Given the description of an element on the screen output the (x, y) to click on. 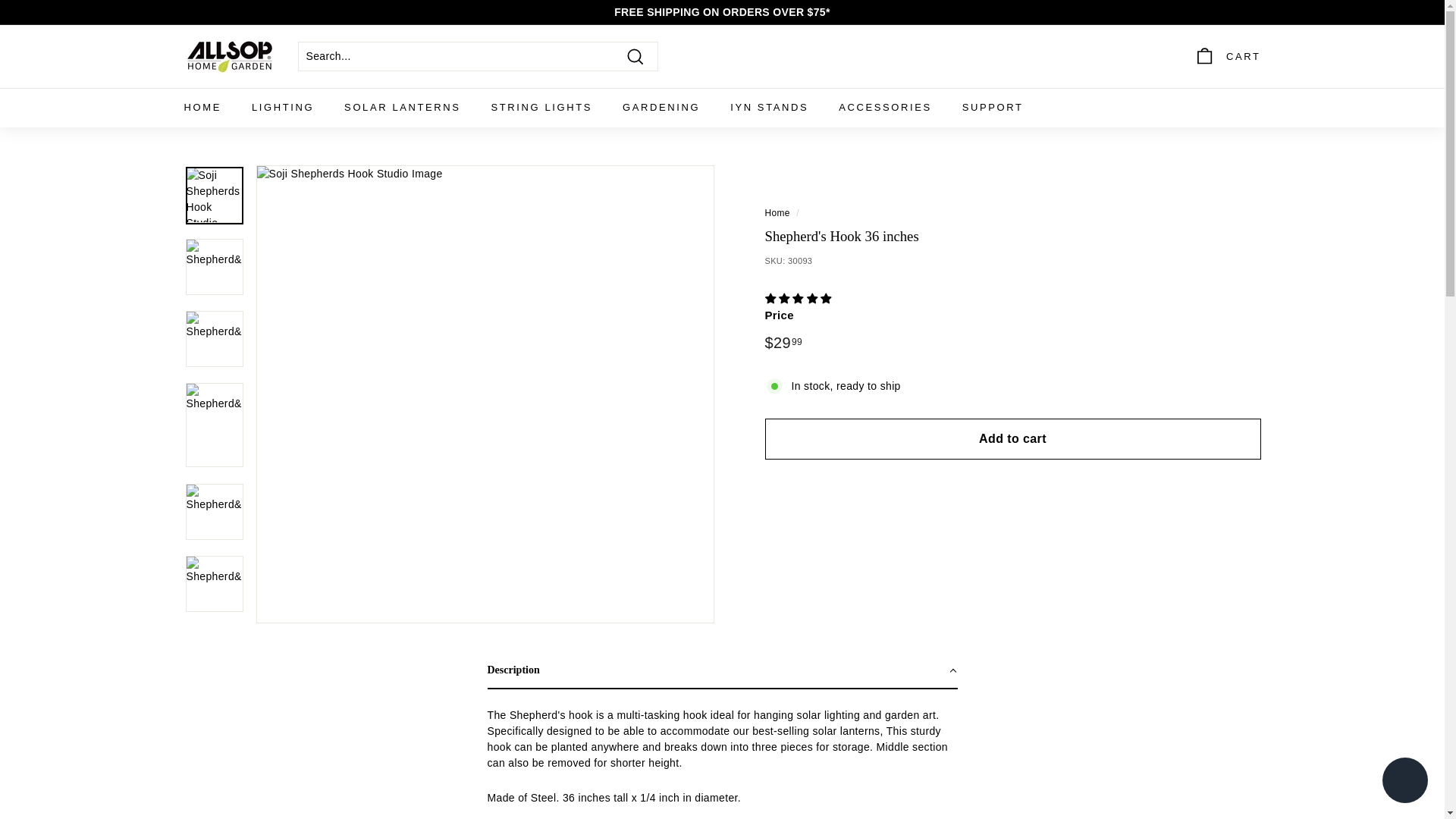
STRING LIGHTS (541, 107)
IYN STANDS (769, 107)
GARDENING (660, 107)
SUPPORT (993, 107)
HOME (201, 107)
ACCESSORIES (885, 107)
Back to the frontpage (776, 213)
LIGHTING (282, 107)
SOLAR LANTERNS (402, 107)
